Given the description of an element on the screen output the (x, y) to click on. 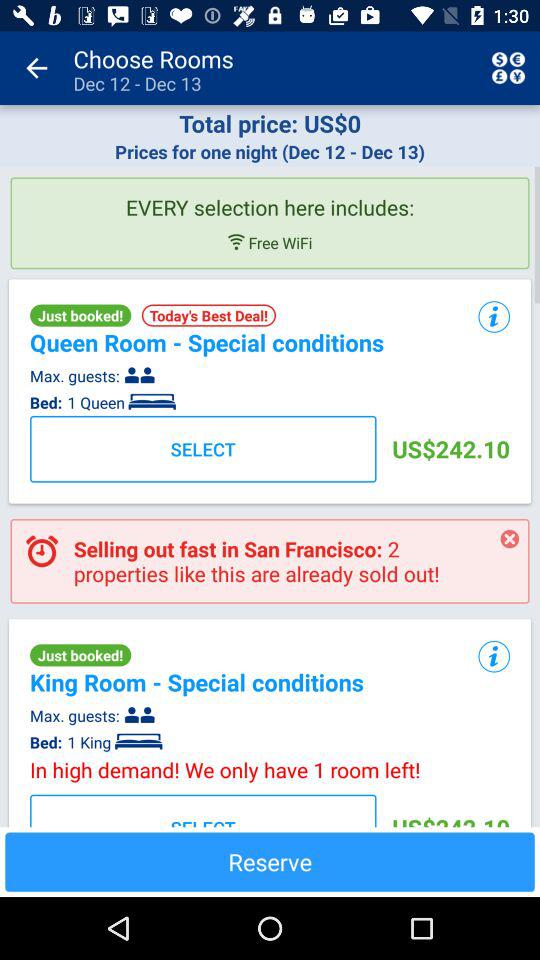
click the app below the select item (269, 861)
